Given the description of an element on the screen output the (x, y) to click on. 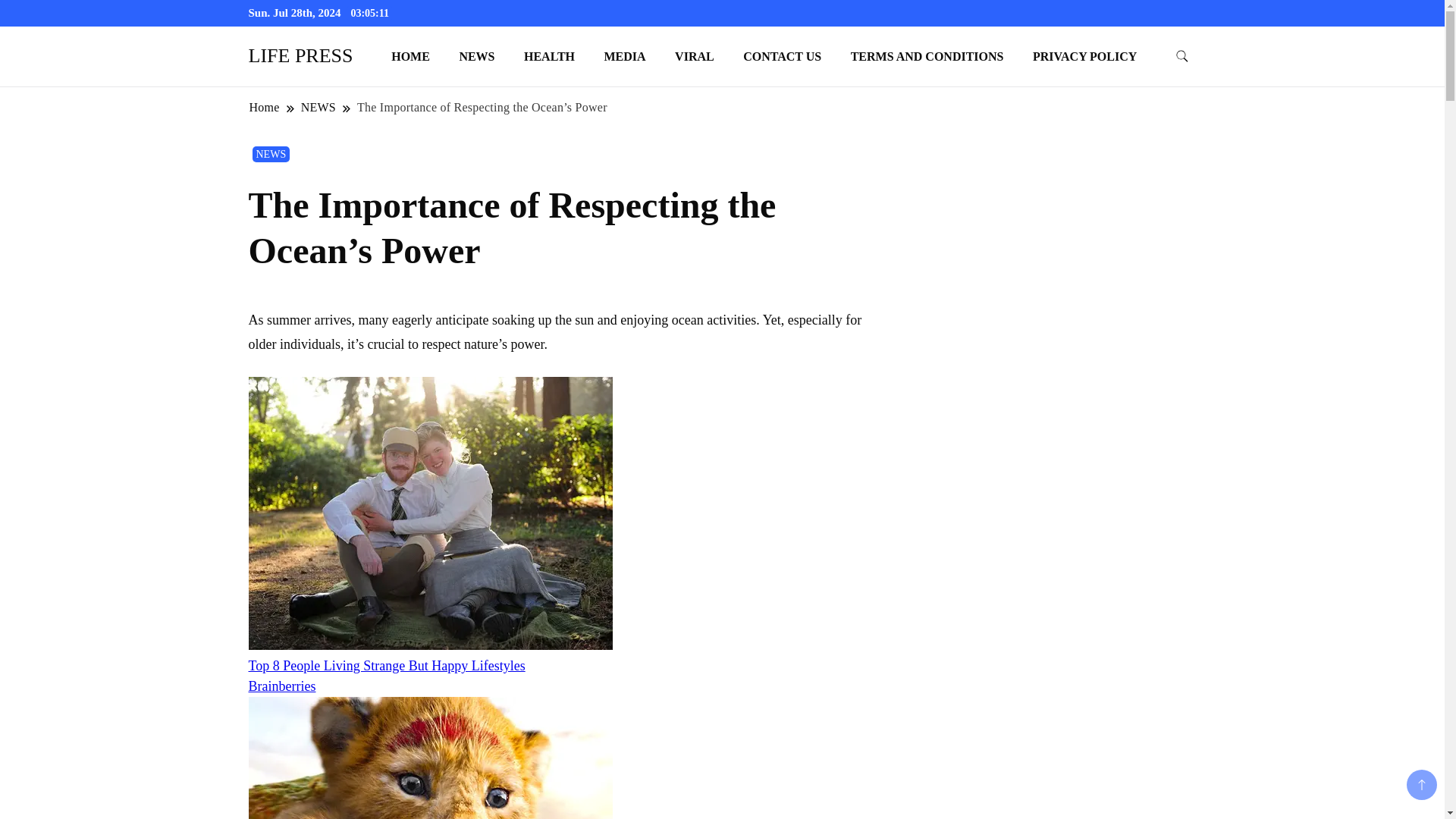
NEWS (317, 106)
MEDIA (625, 56)
LIFE PRESS (300, 55)
TERMS AND CONDITIONS (927, 56)
CONTACT US (782, 56)
PRIVACY POLICY (1085, 56)
HEALTH (549, 56)
NEWS (270, 154)
NEWS (475, 56)
HOME (410, 56)
VIRAL (694, 56)
Home (264, 106)
